Given the description of an element on the screen output the (x, y) to click on. 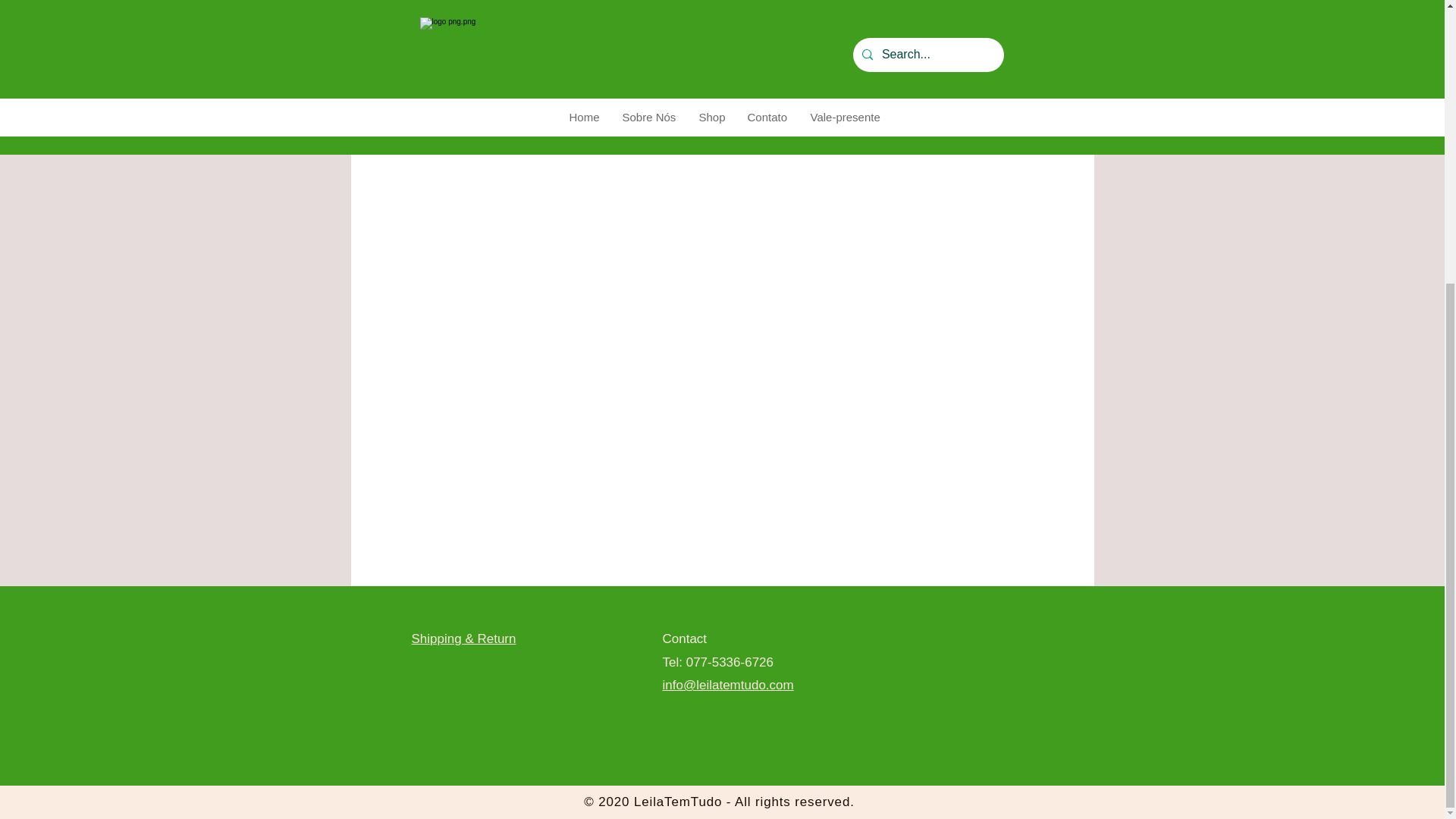
Contact (684, 638)
